Given the description of an element on the screen output the (x, y) to click on. 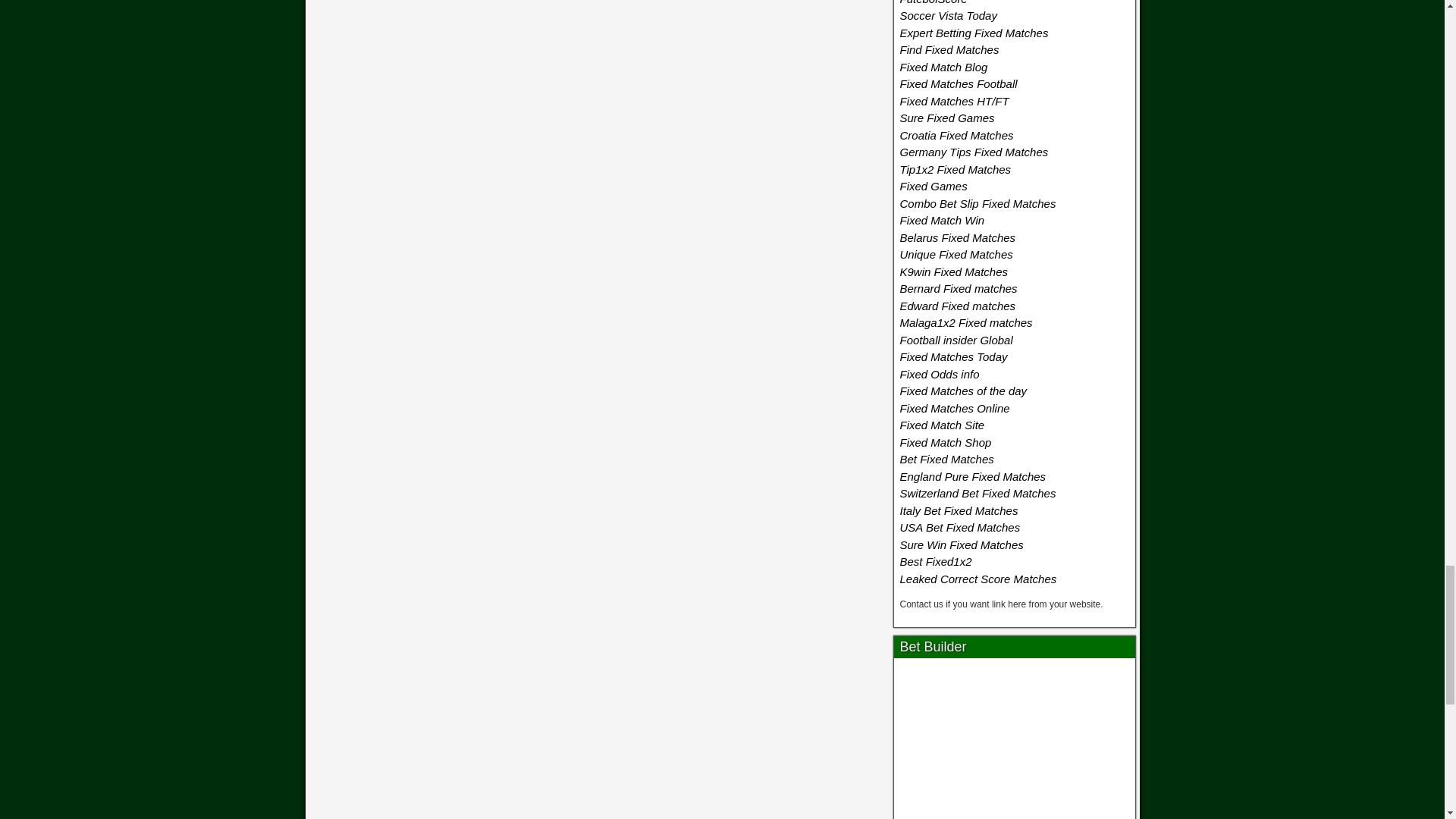
Bet Builder Bet365 Bookie (1014, 741)
